Given the description of an element on the screen output the (x, y) to click on. 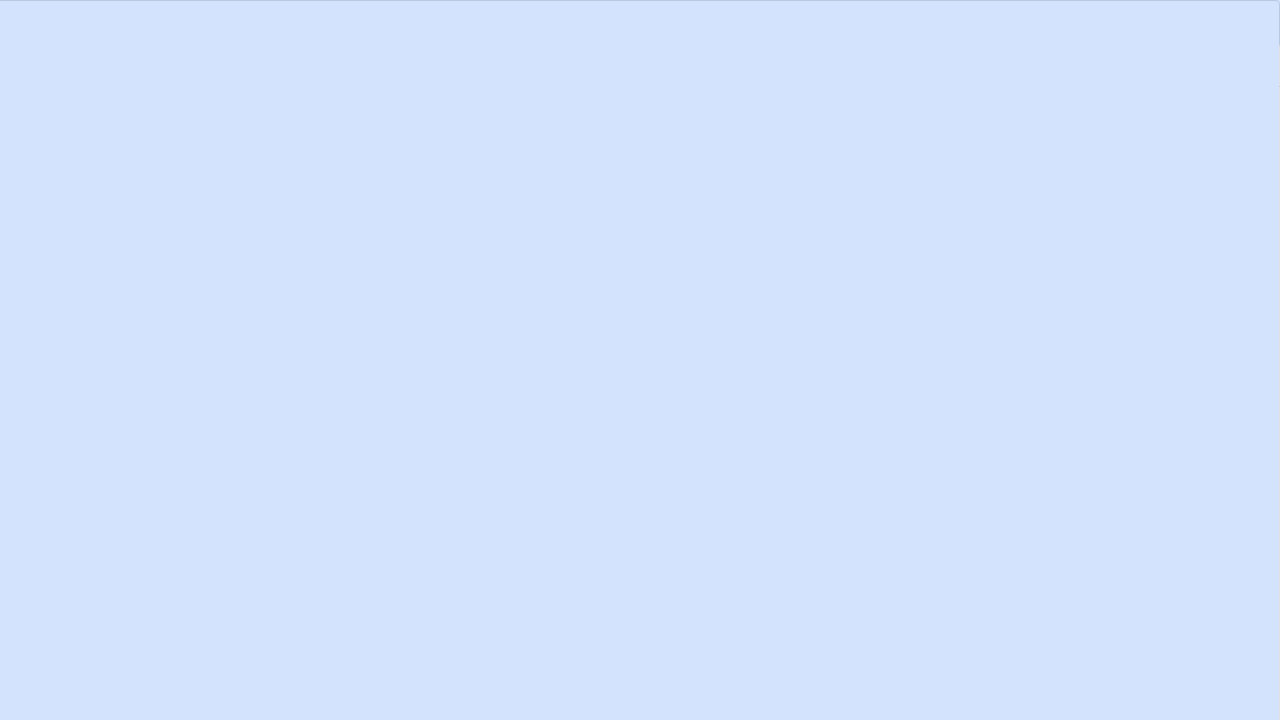
Google Password Manager (310, 232)
Addresses and more (310, 327)
Payment methods (310, 280)
